Given the description of an element on the screen output the (x, y) to click on. 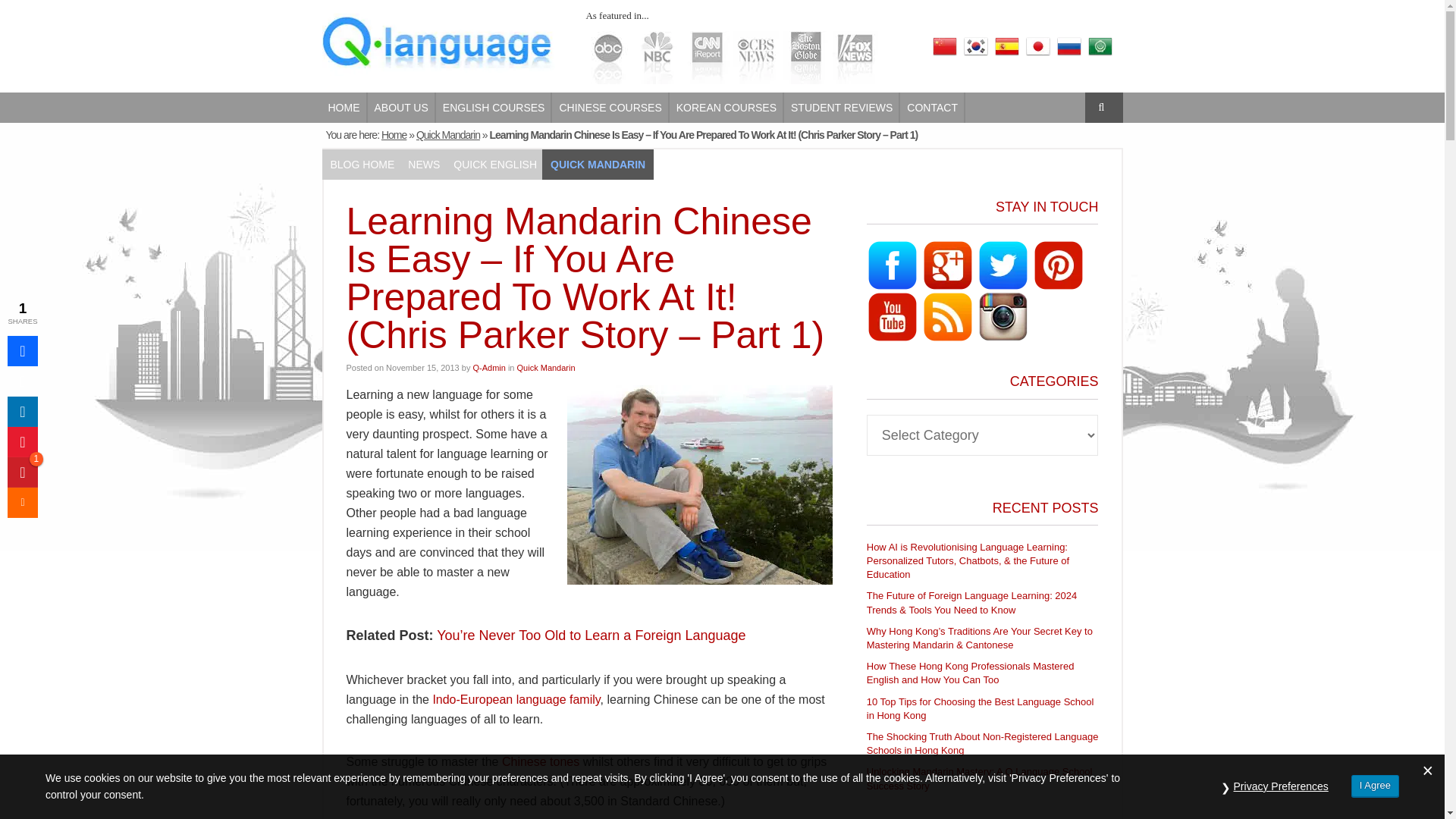
Home (393, 134)
QUICK MANDARIN (597, 164)
HOME (343, 107)
NEWS (423, 164)
Share this on X (22, 381)
Convert to PDF (22, 441)
QUICK ENGLISH (494, 164)
CONTACT (933, 107)
Share this on Facebook (22, 350)
